Given the description of an element on the screen output the (x, y) to click on. 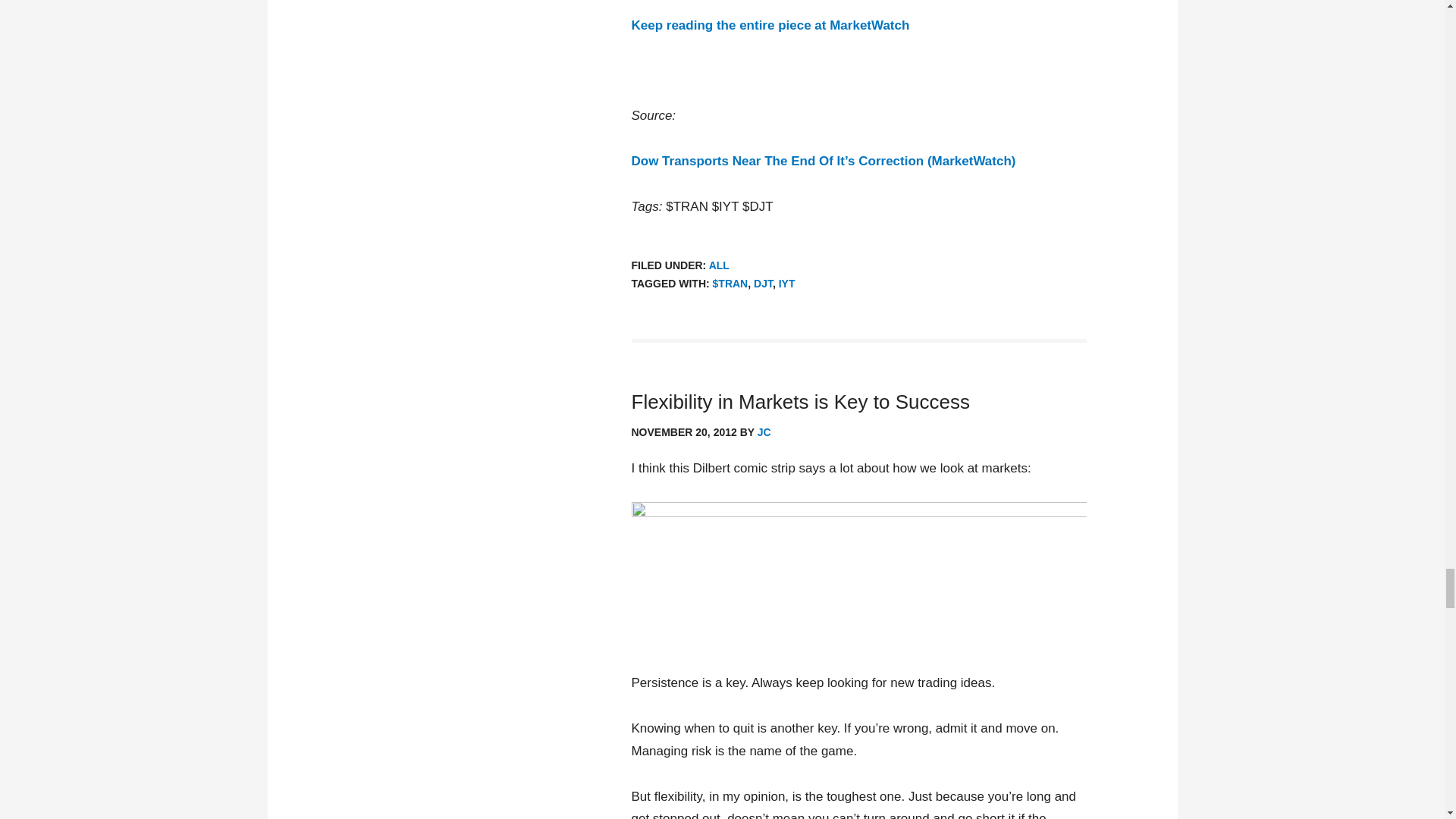
11-20-12 dilbert (858, 575)
